Given the description of an element on the screen output the (x, y) to click on. 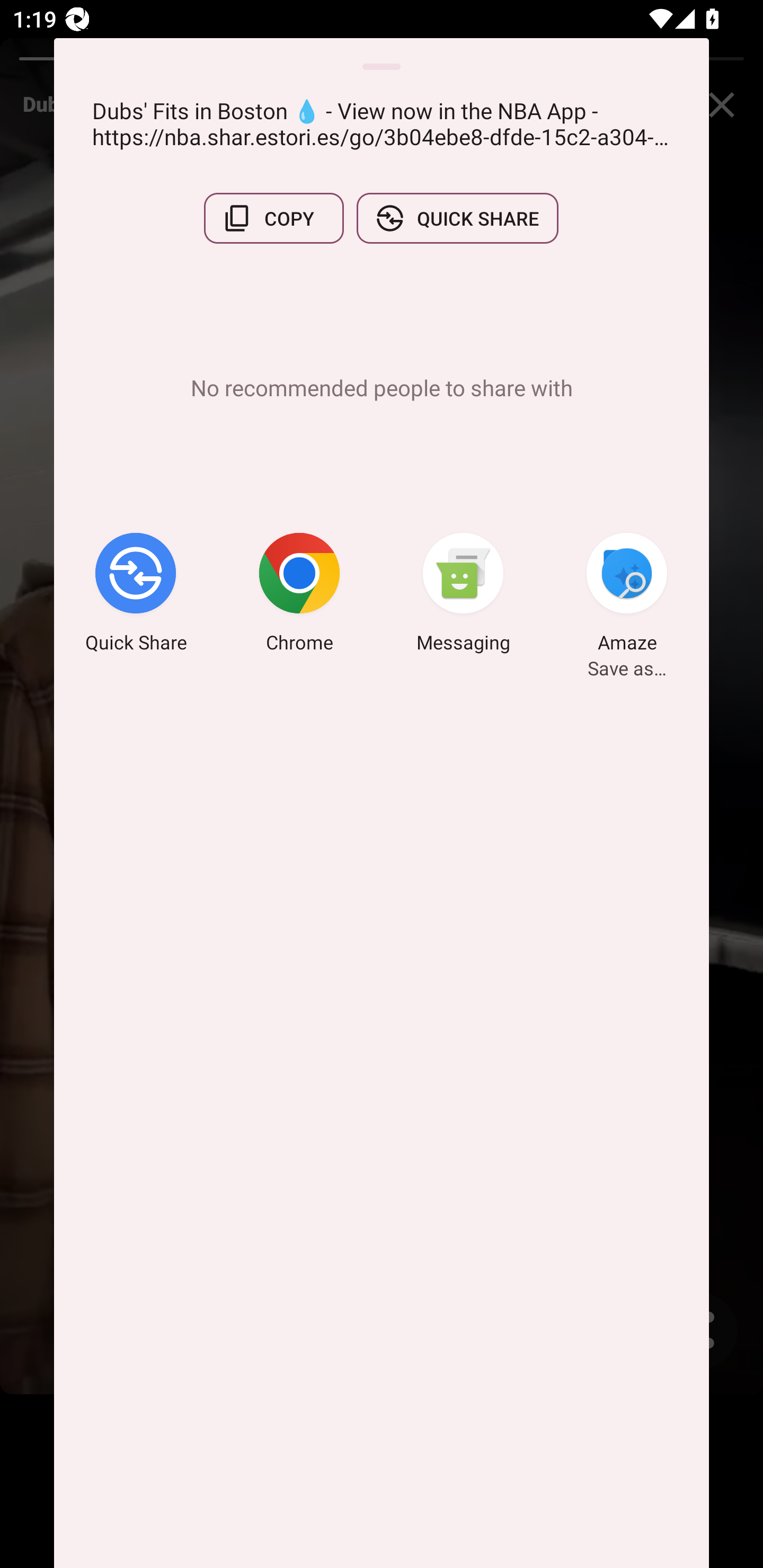
COPY (273, 218)
QUICK SHARE (457, 218)
Quick Share (135, 594)
Chrome (299, 594)
Messaging (463, 594)
Amaze Save as… (626, 594)
